Given the description of an element on the screen output the (x, y) to click on. 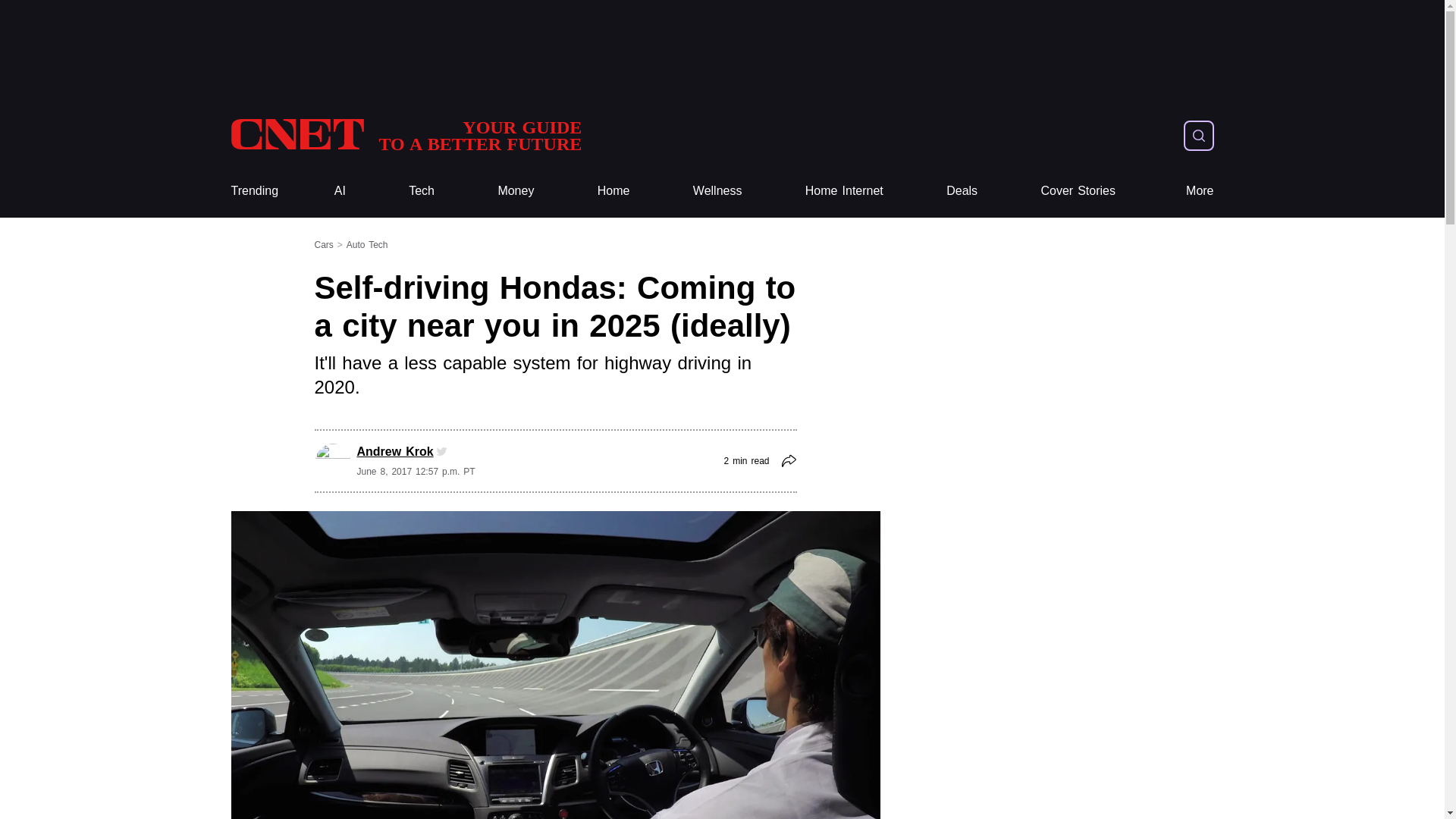
Trending (254, 190)
Home Internet (844, 190)
Money (515, 190)
Wellness (717, 190)
Tech (421, 190)
Home Internet (405, 135)
Wellness (844, 190)
Money (717, 190)
More (515, 190)
Home (1199, 190)
Tech (613, 190)
Home (421, 190)
Cover Stories (613, 190)
Deals (1078, 190)
